Given the description of an element on the screen output the (x, y) to click on. 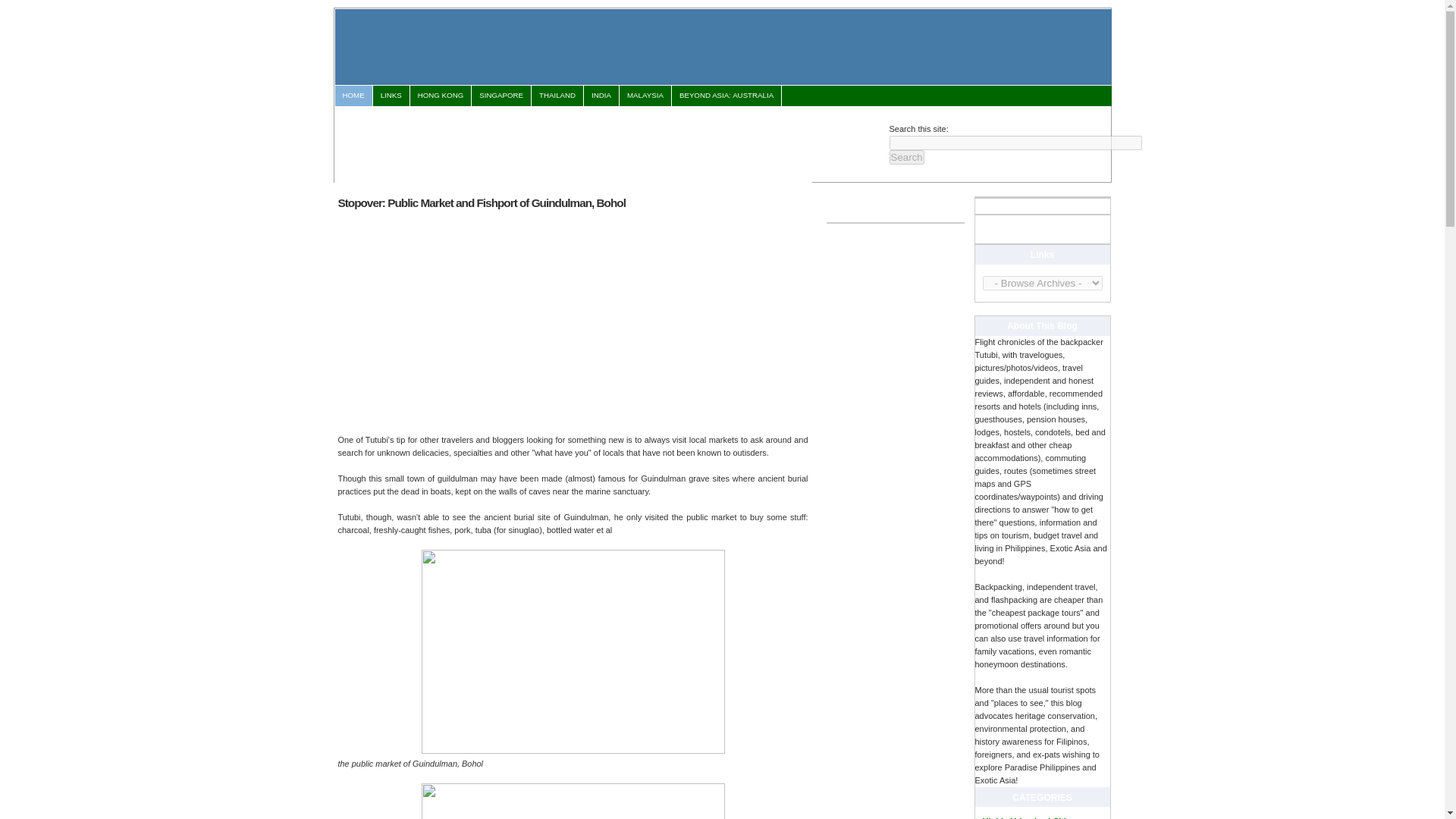
Advertisement (610, 141)
HONG KONG (440, 95)
HOME (353, 95)
MALAYSIA (645, 95)
INDIA (600, 95)
Advertisement (466, 320)
SINGAPORE (501, 95)
BEYOND ASIA: AUSTRALIA (725, 95)
LINKS (390, 95)
THAILAND (557, 95)
Search (905, 156)
Search (905, 156)
Highly Urbanized Cities (1028, 817)
